Given the description of an element on the screen output the (x, y) to click on. 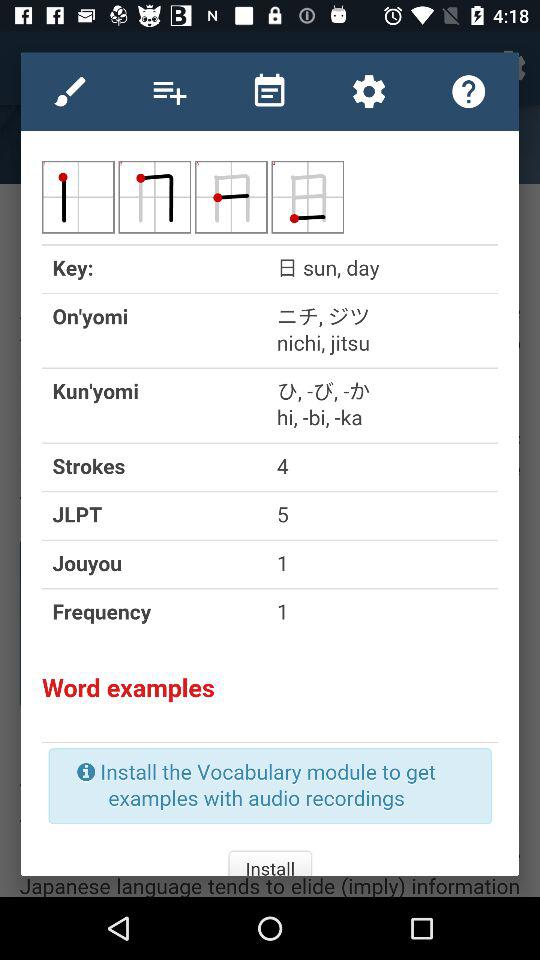
use paint tool (70, 91)
